Given the description of an element on the screen output the (x, y) to click on. 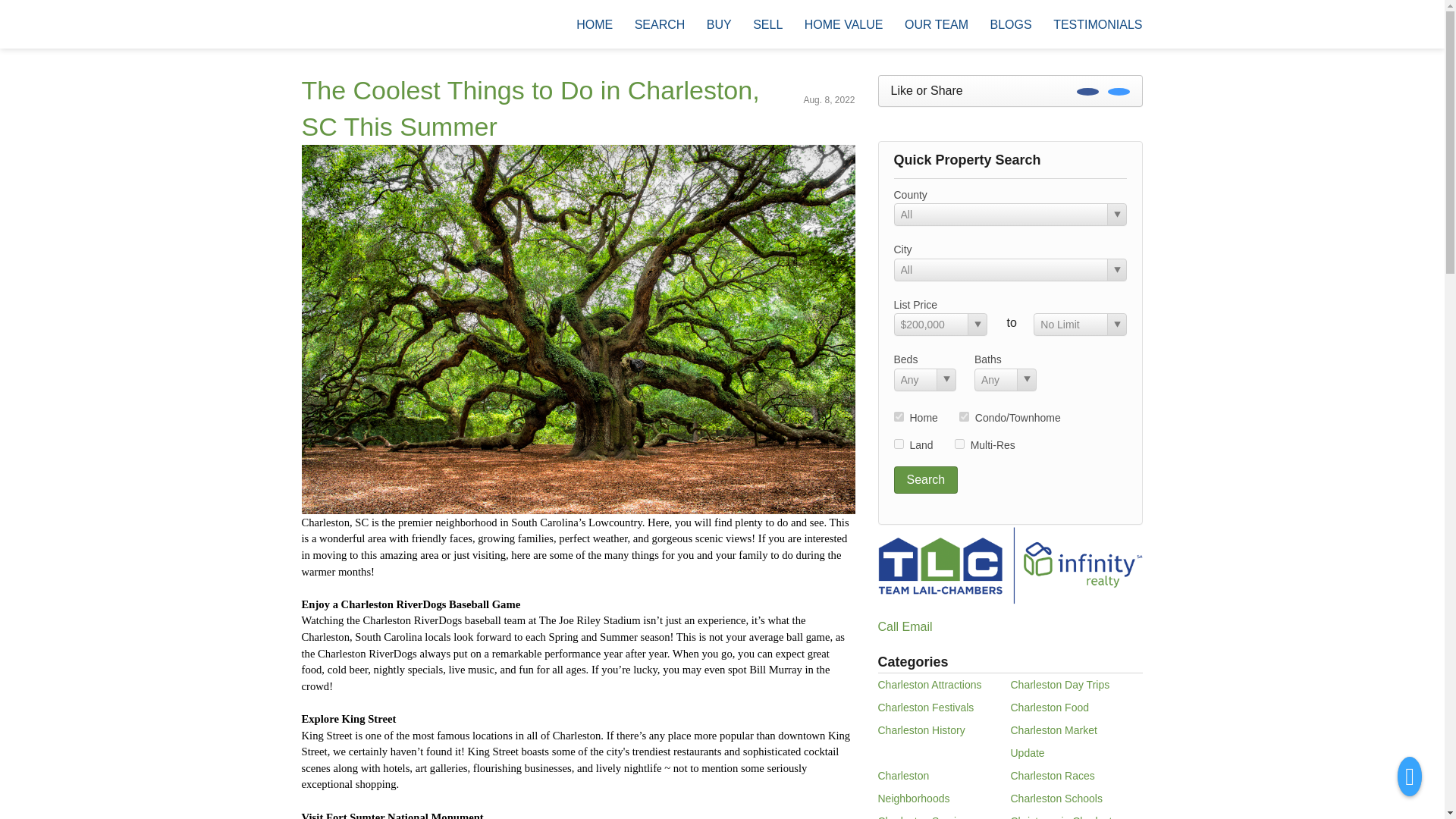
Email (917, 626)
Like or Share (1009, 91)
BUY (719, 24)
con (964, 416)
Charleston Attractions (929, 684)
The Coolest Things to Do in Charleston, SC This Summer (530, 108)
Charleston History (921, 729)
Charleston Services (924, 816)
lnd (897, 443)
Contact by Phone (1213, 23)
